Given the description of an element on the screen output the (x, y) to click on. 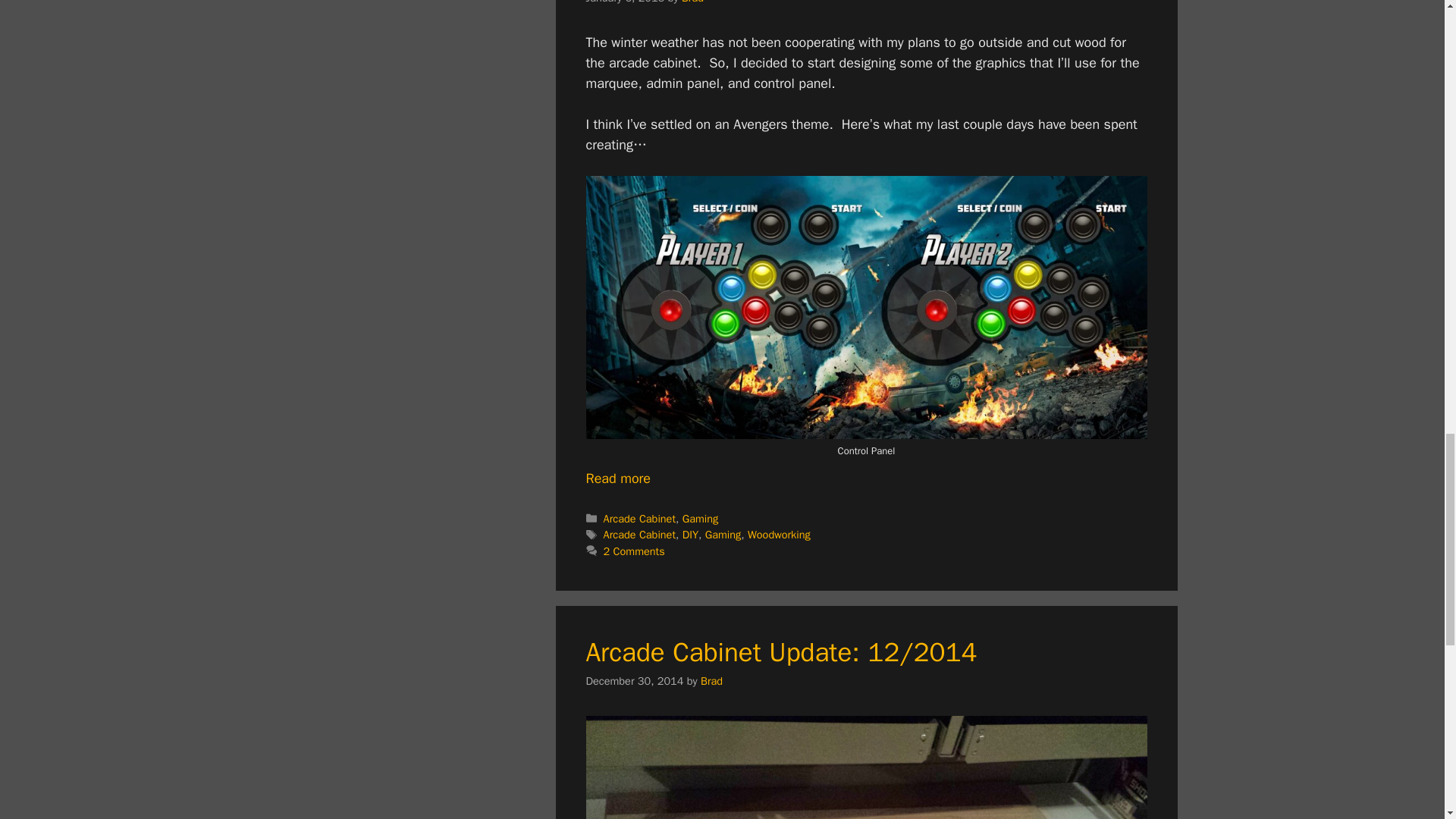
View all posts by Brad (711, 680)
View all posts by Brad (692, 2)
